Given the description of an element on the screen output the (x, y) to click on. 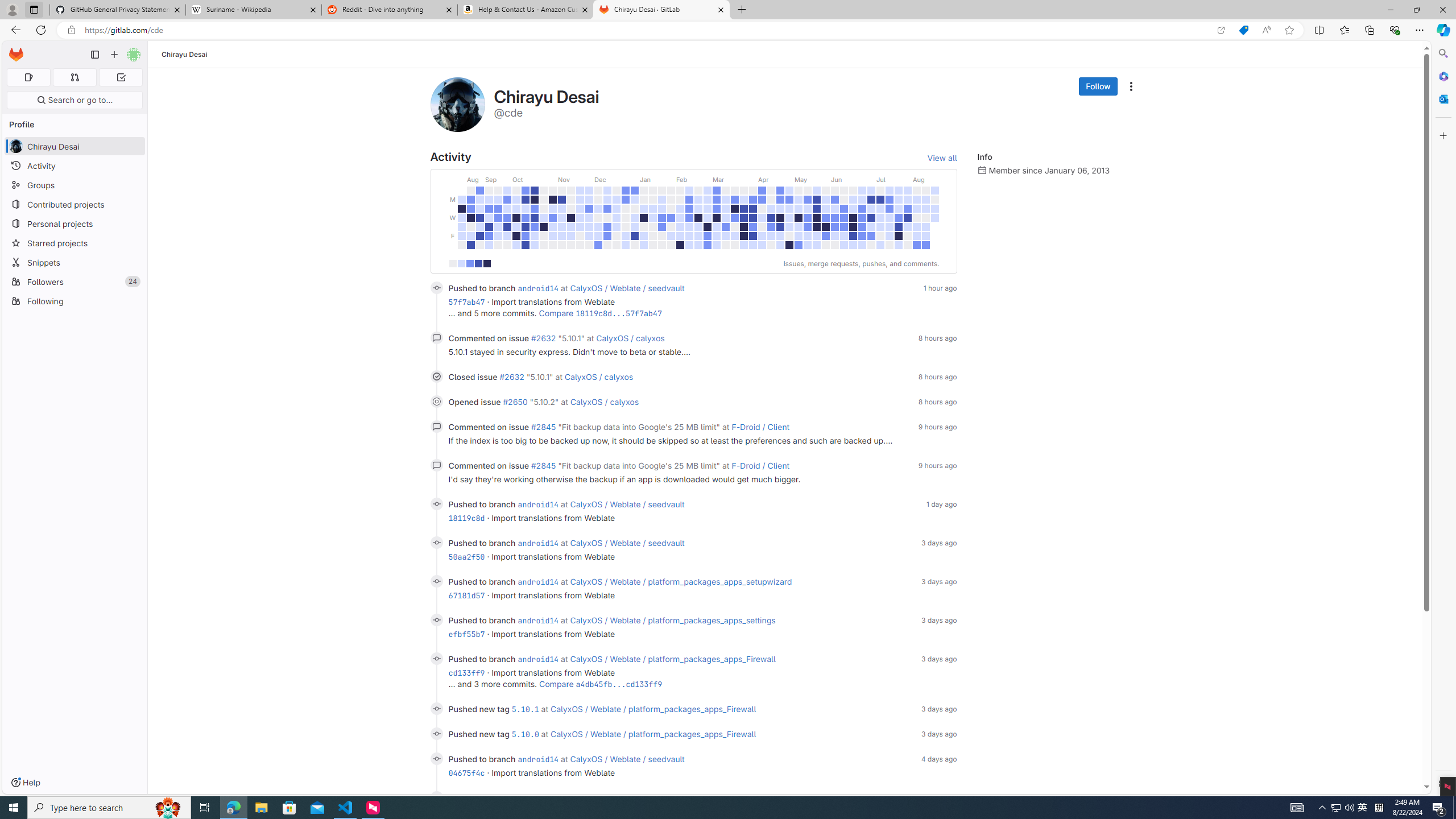
Assigned issues 0 (28, 76)
